Given the description of an element on the screen output the (x, y) to click on. 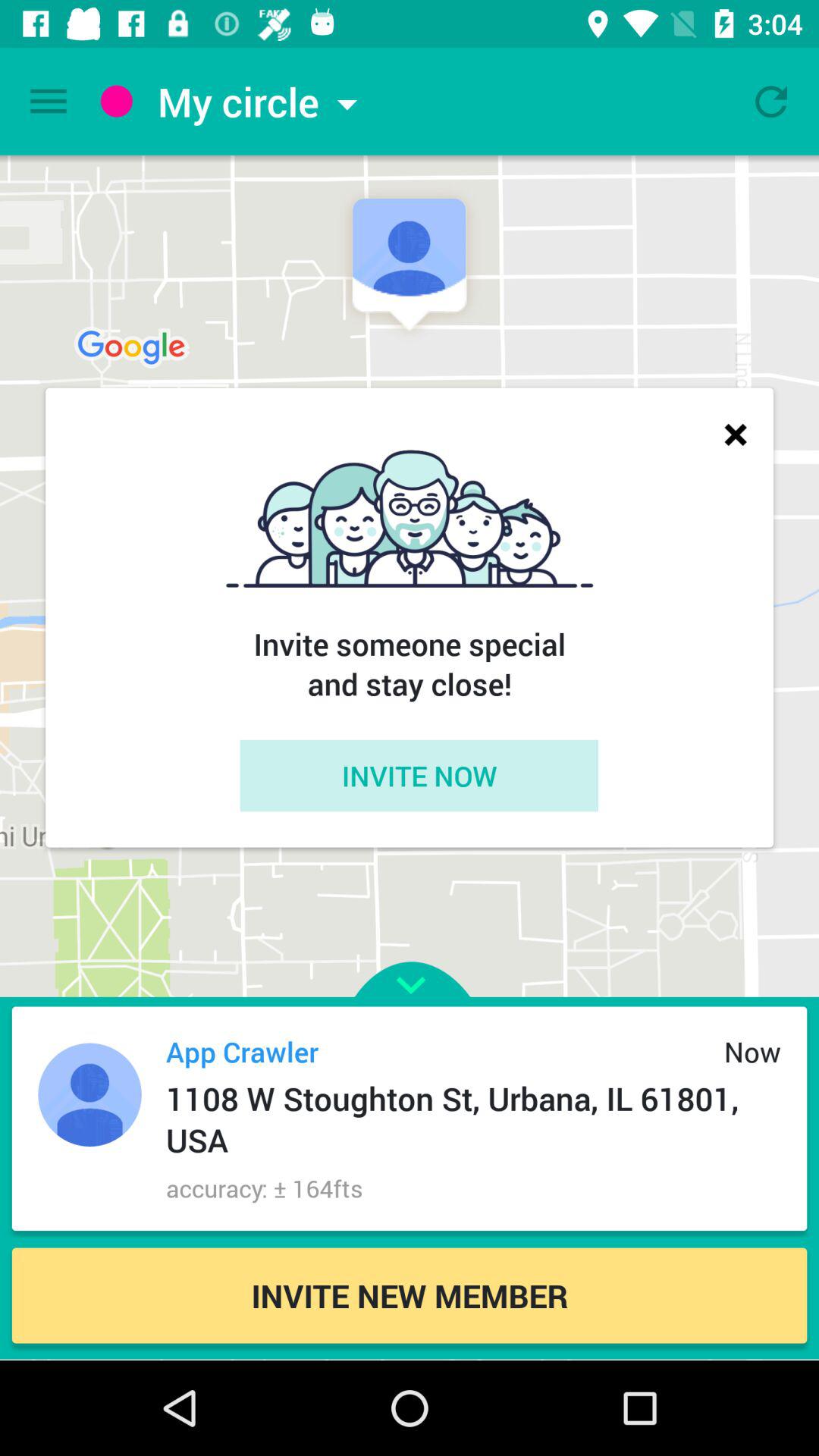
hit x to close (735, 434)
